Given the description of an element on the screen output the (x, y) to click on. 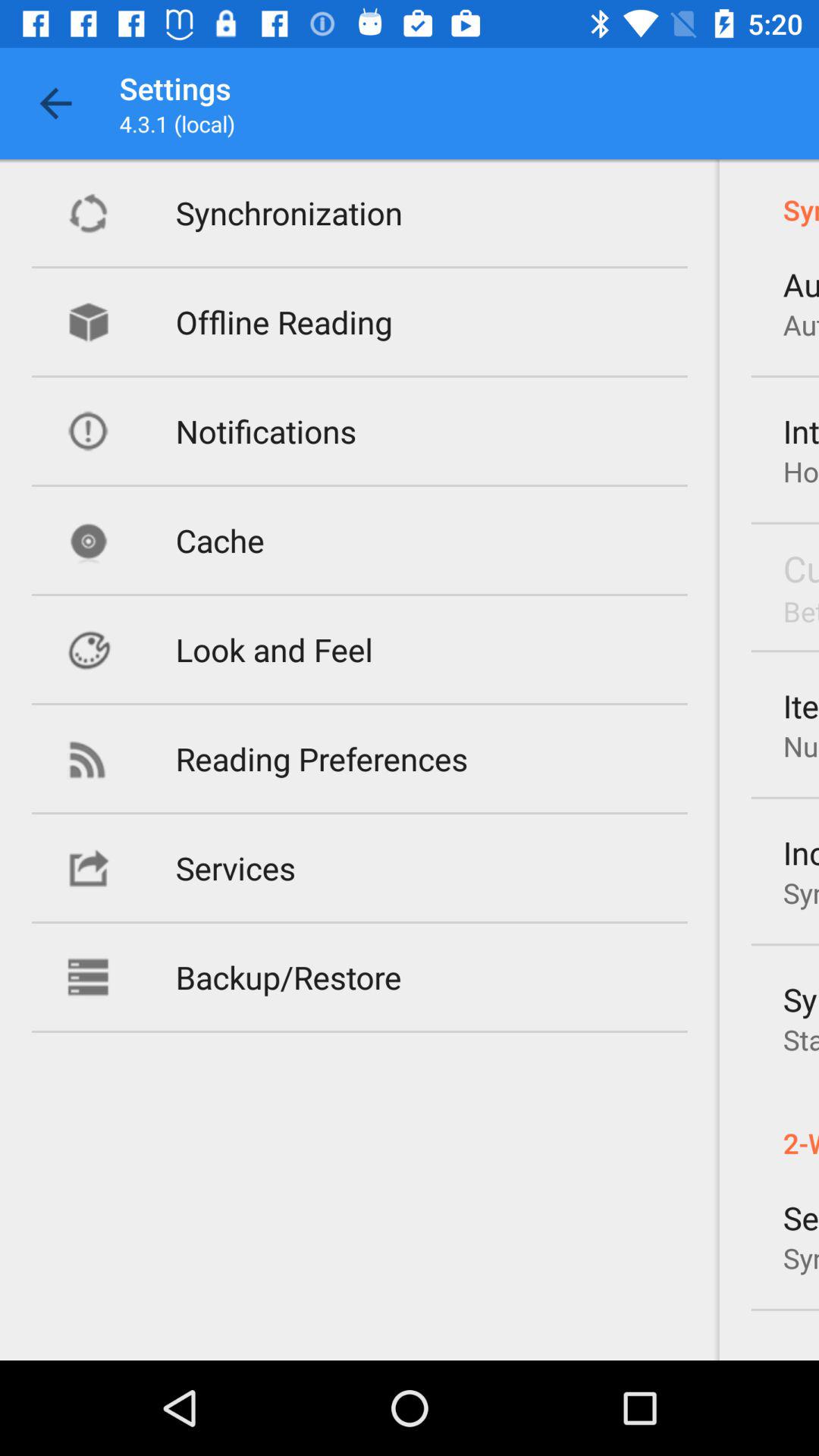
open the item to the left of the between 0 and icon (274, 649)
